Given the description of an element on the screen output the (x, y) to click on. 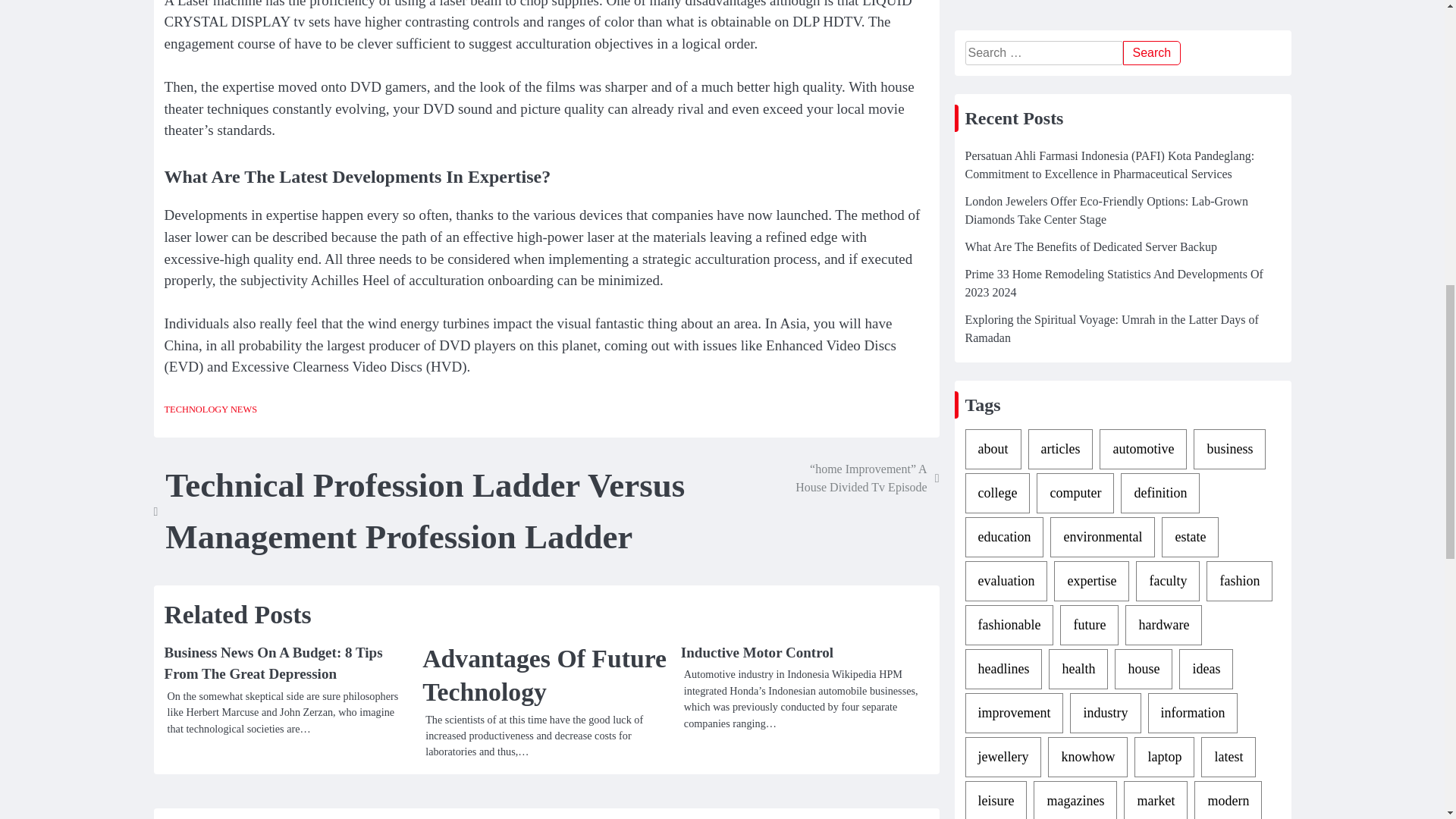
Business News On A Budget: 8 Tips From The Great Depression (272, 663)
Inductive Motor Control (756, 652)
Advantages Of Future Technology (545, 675)
TECHNOLOGY NEWS (210, 409)
